Given the description of an element on the screen output the (x, y) to click on. 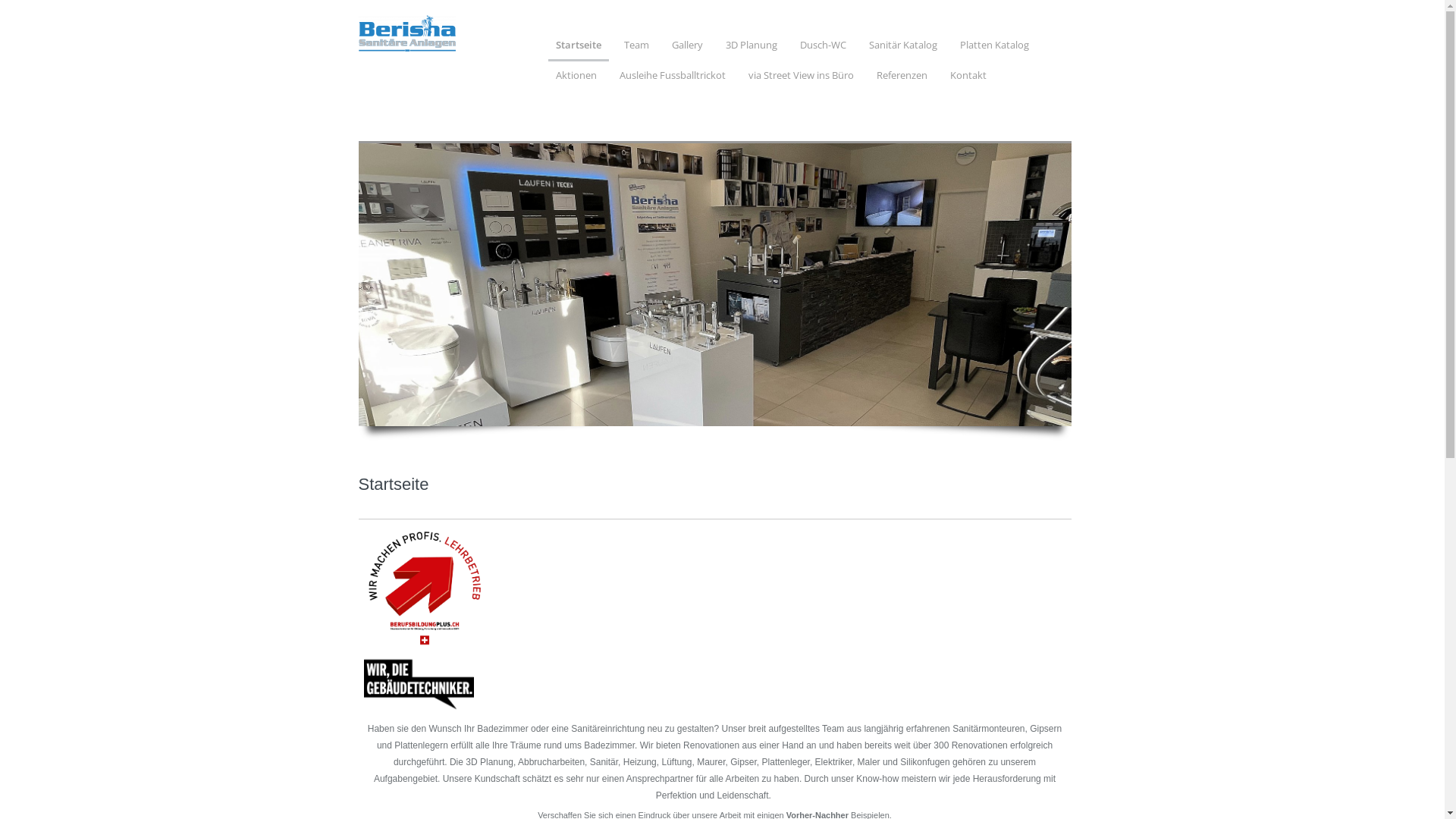
Startseite Element type: text (577, 49)
Dusch-WC Element type: text (822, 48)
Team Element type: text (635, 48)
Gallery Element type: text (687, 48)
Platten Katalog Element type: text (994, 48)
Ausleihe Fussballtrickot Element type: text (671, 78)
Referenzen Element type: text (902, 78)
3D Planung Element type: text (750, 48)
Kontakt Element type: text (967, 78)
Aktionen Element type: text (575, 78)
